Given the description of an element on the screen output the (x, y) to click on. 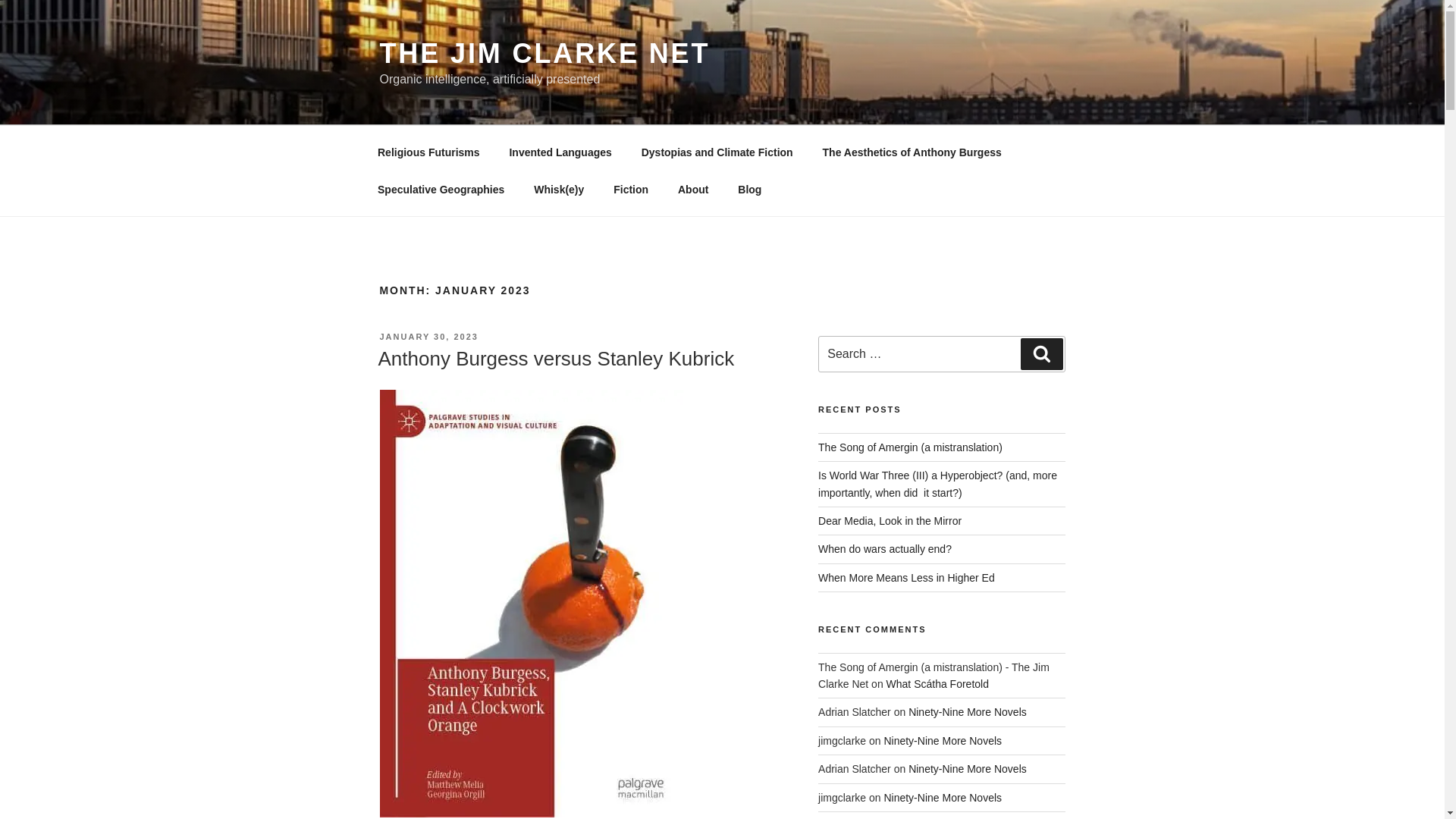
Dystopias and Climate Fiction (716, 151)
Fiction (630, 189)
Dear Media, Look in the Mirror (889, 521)
The Aesthetics of Anthony Burgess (911, 151)
Ninety-Nine More Novels (967, 711)
JANUARY 30, 2023 (427, 336)
When More Means Less in Higher Ed (906, 577)
About (691, 189)
Invented Languages (560, 151)
Religious Futurisms (428, 151)
When do wars actually end? (885, 548)
Ninety-Nine More Novels (967, 768)
Search (1041, 354)
THE JIM CLARKE NET (544, 52)
Ninety-Nine More Novels (942, 740)
